Given the description of an element on the screen output the (x, y) to click on. 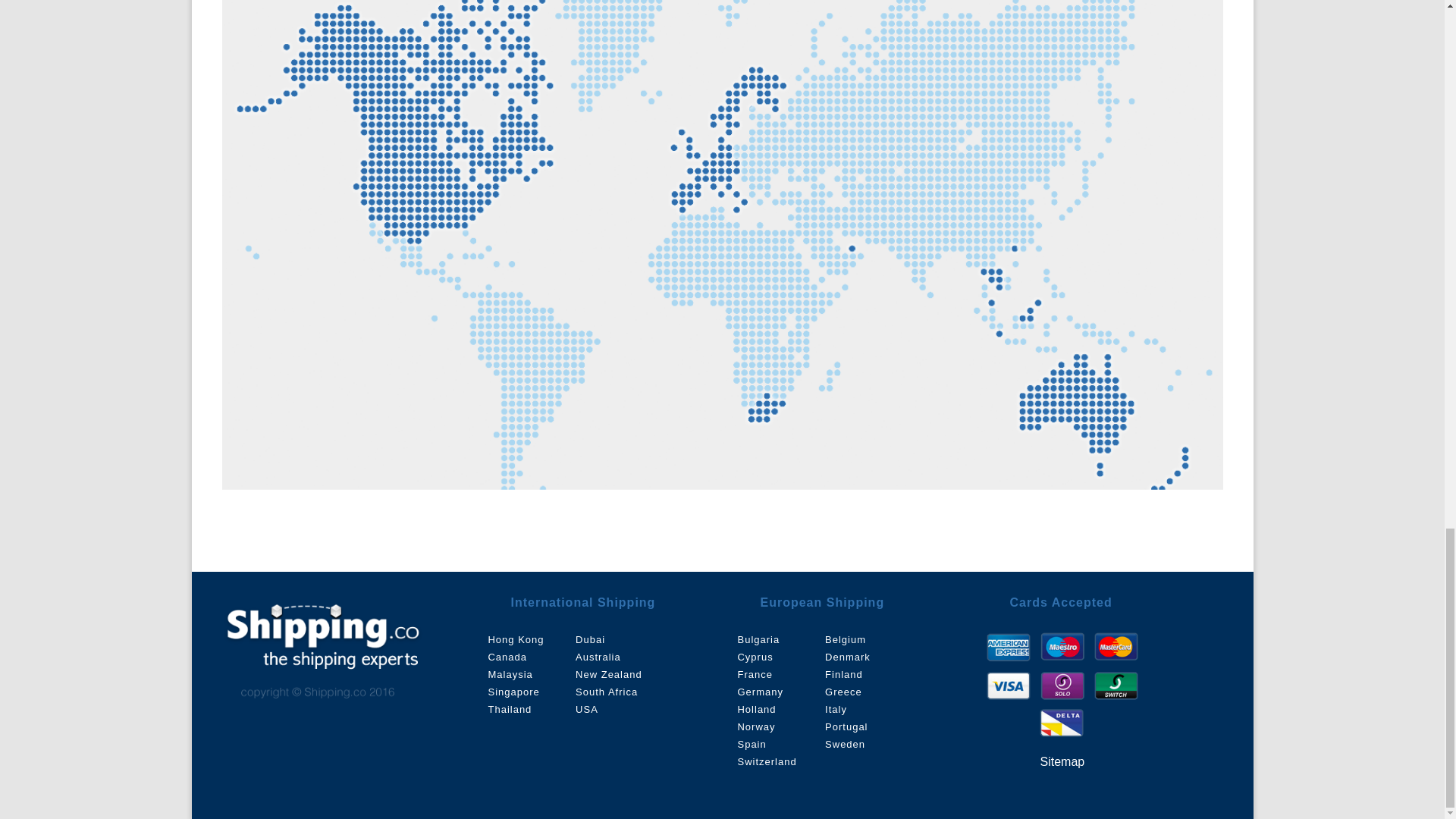
Malaysia (509, 674)
Bulgaria (757, 639)
Finland (844, 674)
Australia (598, 656)
Holland (756, 708)
Switzerland (766, 761)
Germany (759, 691)
Dubai (590, 639)
Hong Kong (515, 639)
Belgium (845, 639)
